Given the description of an element on the screen output the (x, y) to click on. 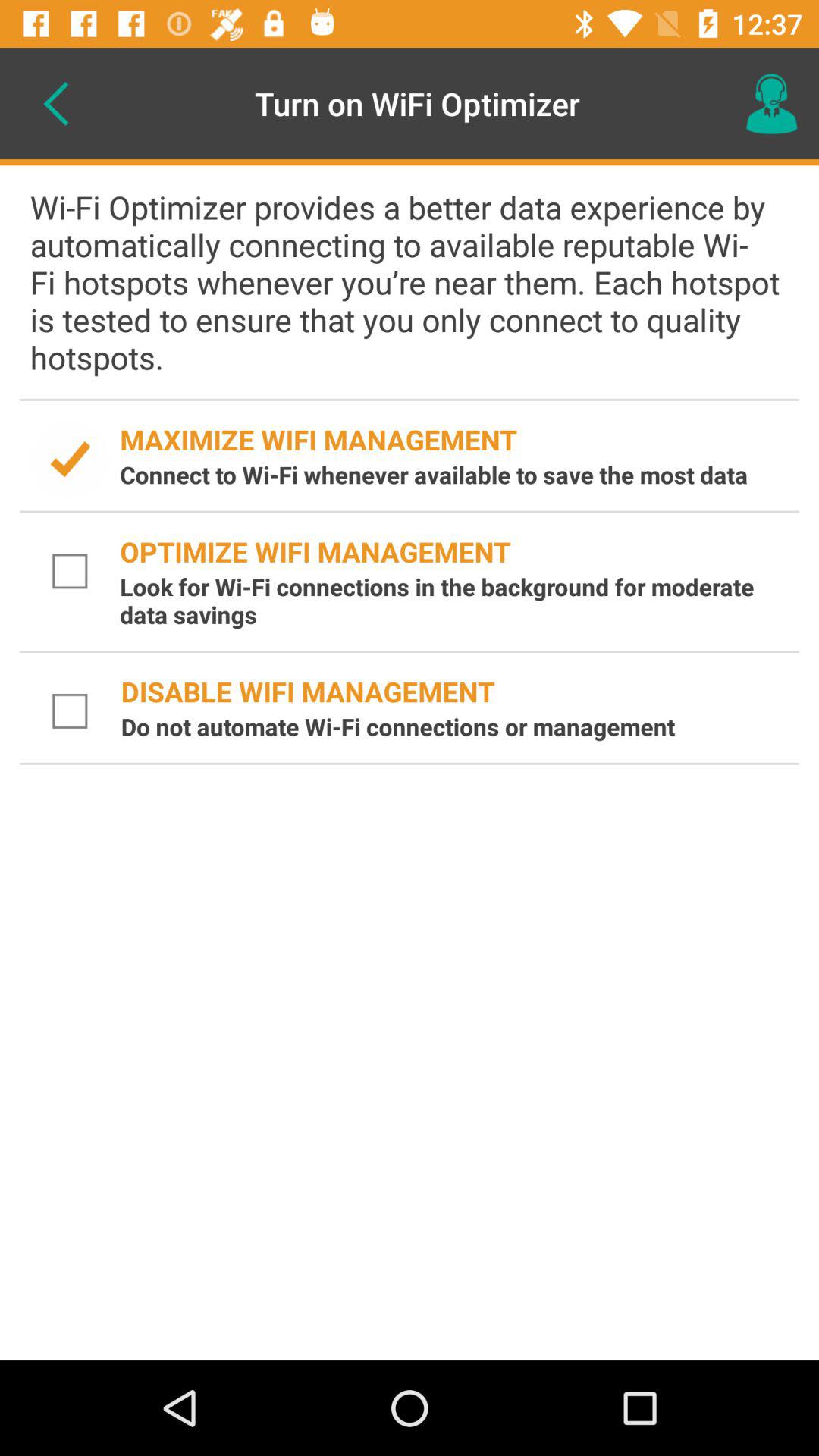
unchecked box (70, 711)
